Given the description of an element on the screen output the (x, y) to click on. 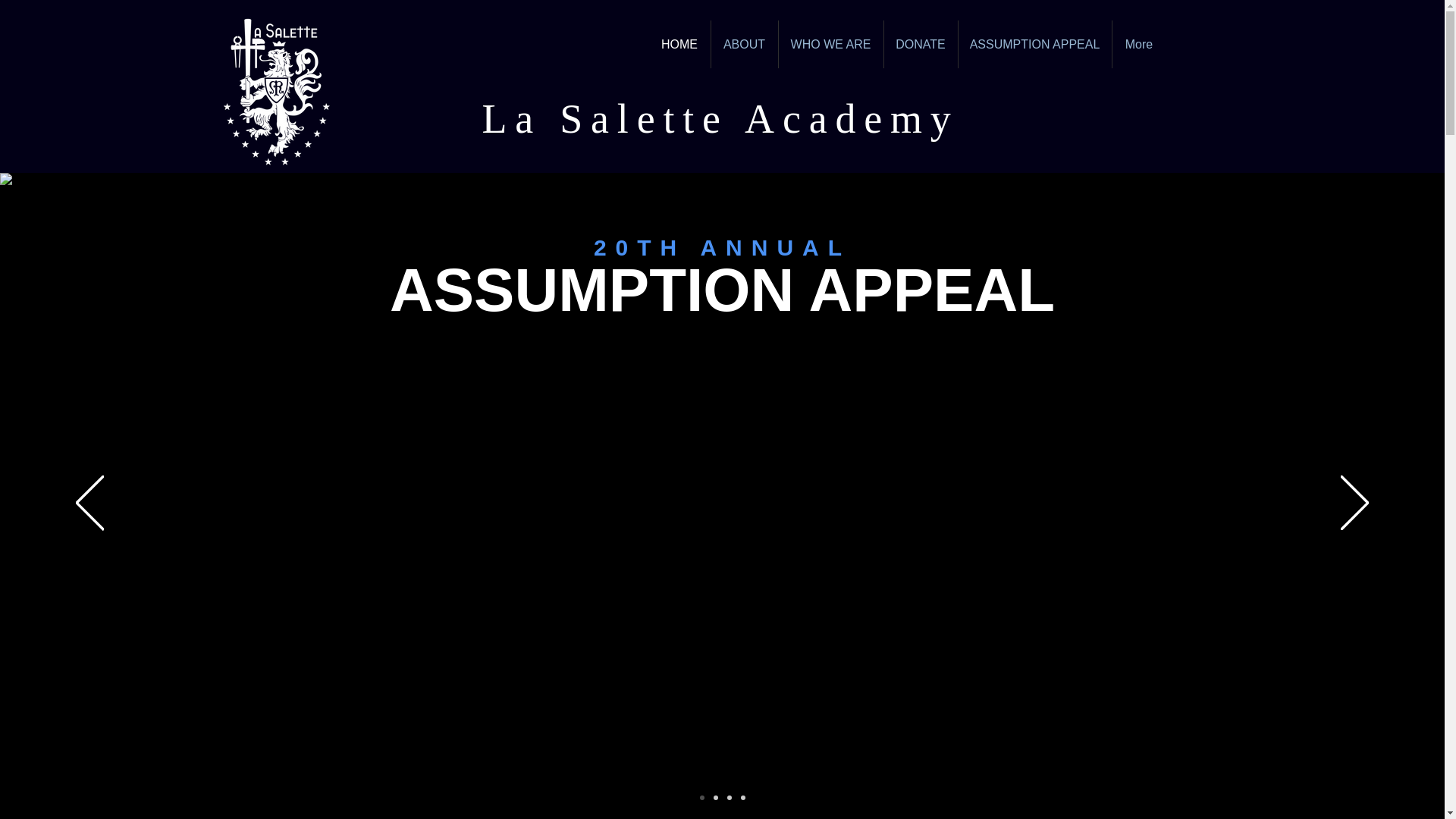
ABOUT (744, 43)
La Salette Academy (720, 118)
ASSUMPTION APPEAL (722, 317)
HOME (679, 43)
20TH ANNUAL (722, 247)
ASSUMPTION APPEAL (1035, 43)
DONATE (920, 43)
WHO WE ARE (829, 43)
